Given the description of an element on the screen output the (x, y) to click on. 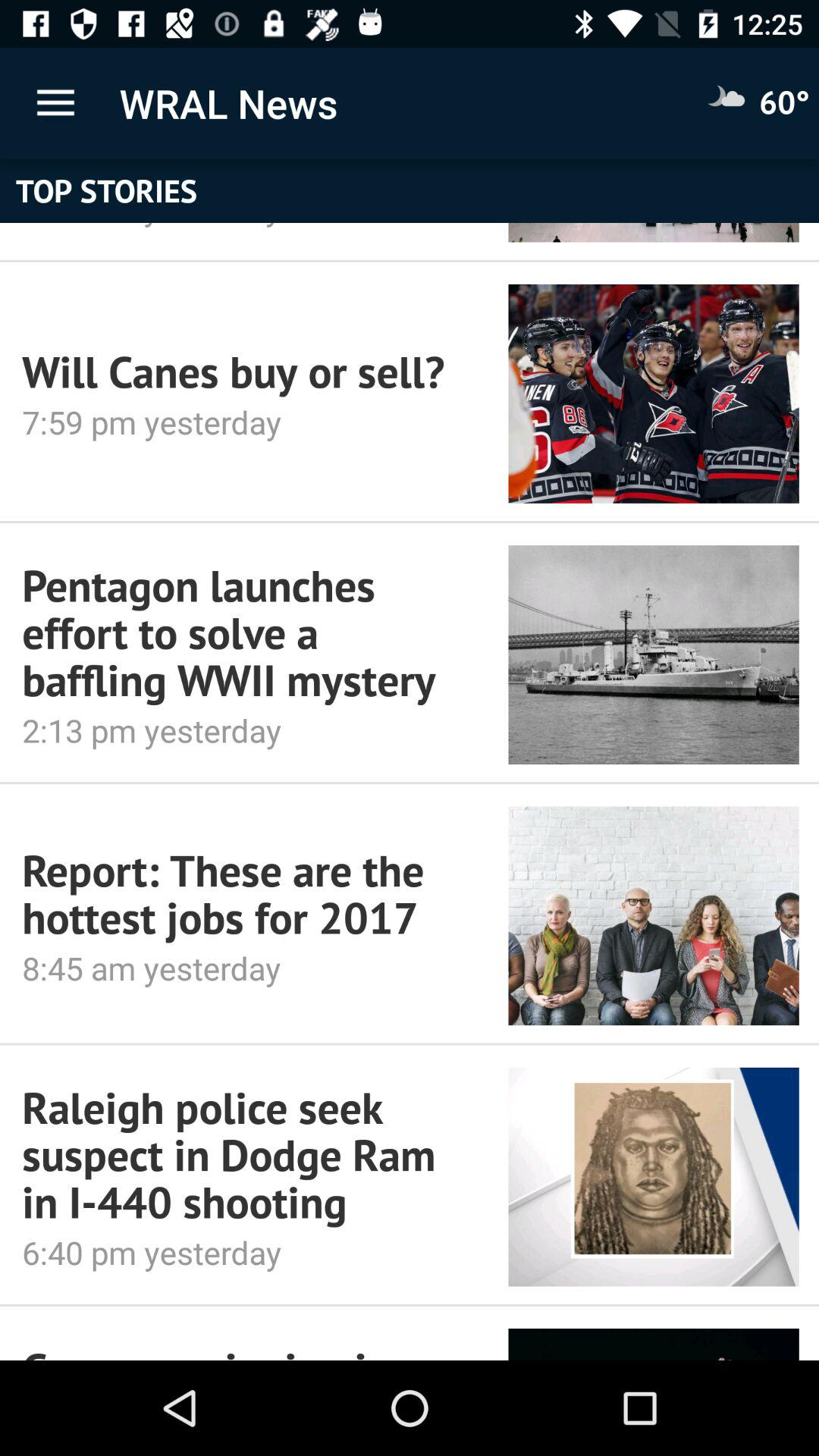
click the item next to the 6 57 am icon (653, 232)
